Given the description of an element on the screen output the (x, y) to click on. 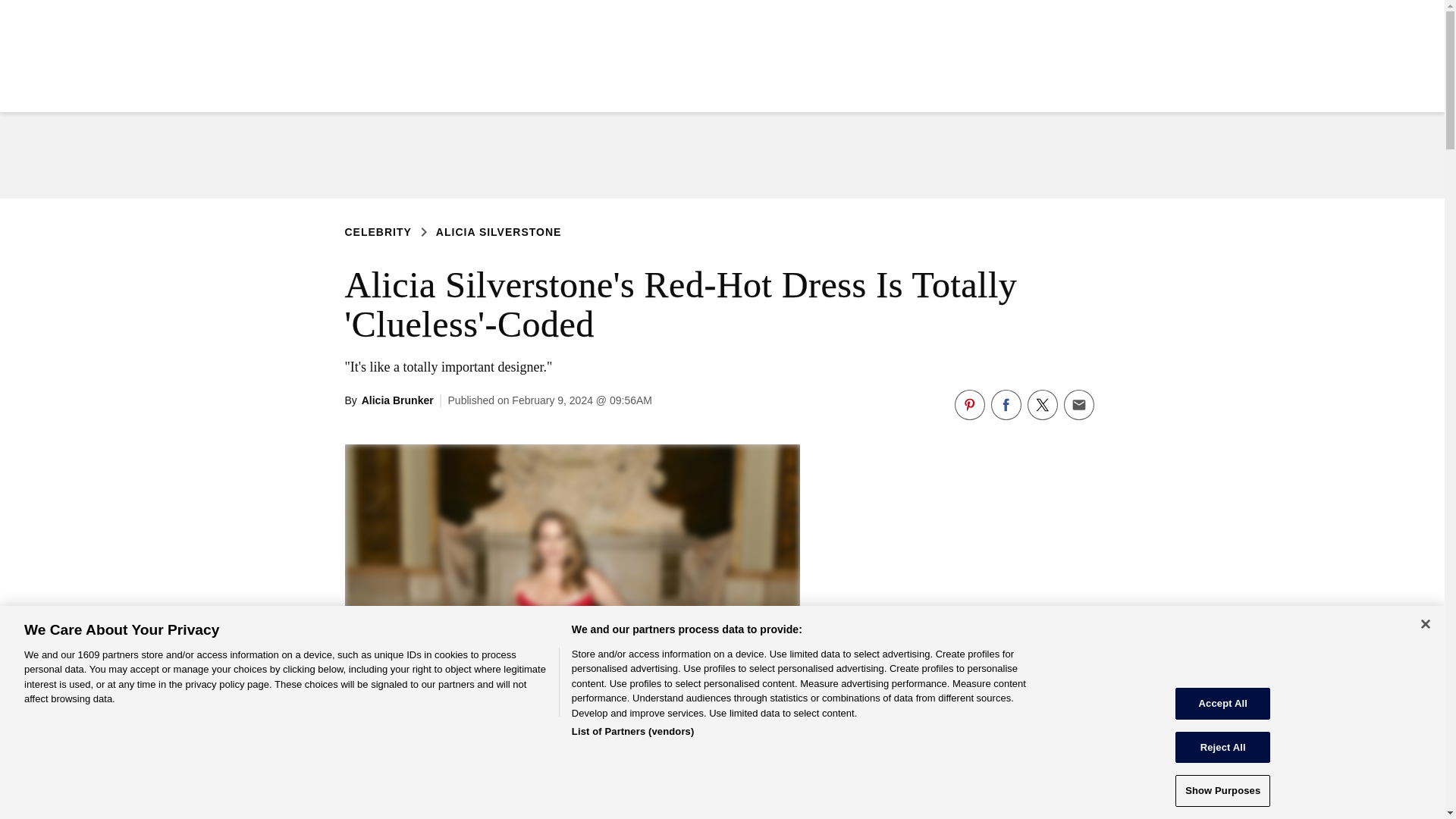
Share on Pinterest (968, 404)
Share on X (1041, 404)
Share on Facebook (1005, 404)
Email this article (1077, 404)
